Given the description of an element on the screen output the (x, y) to click on. 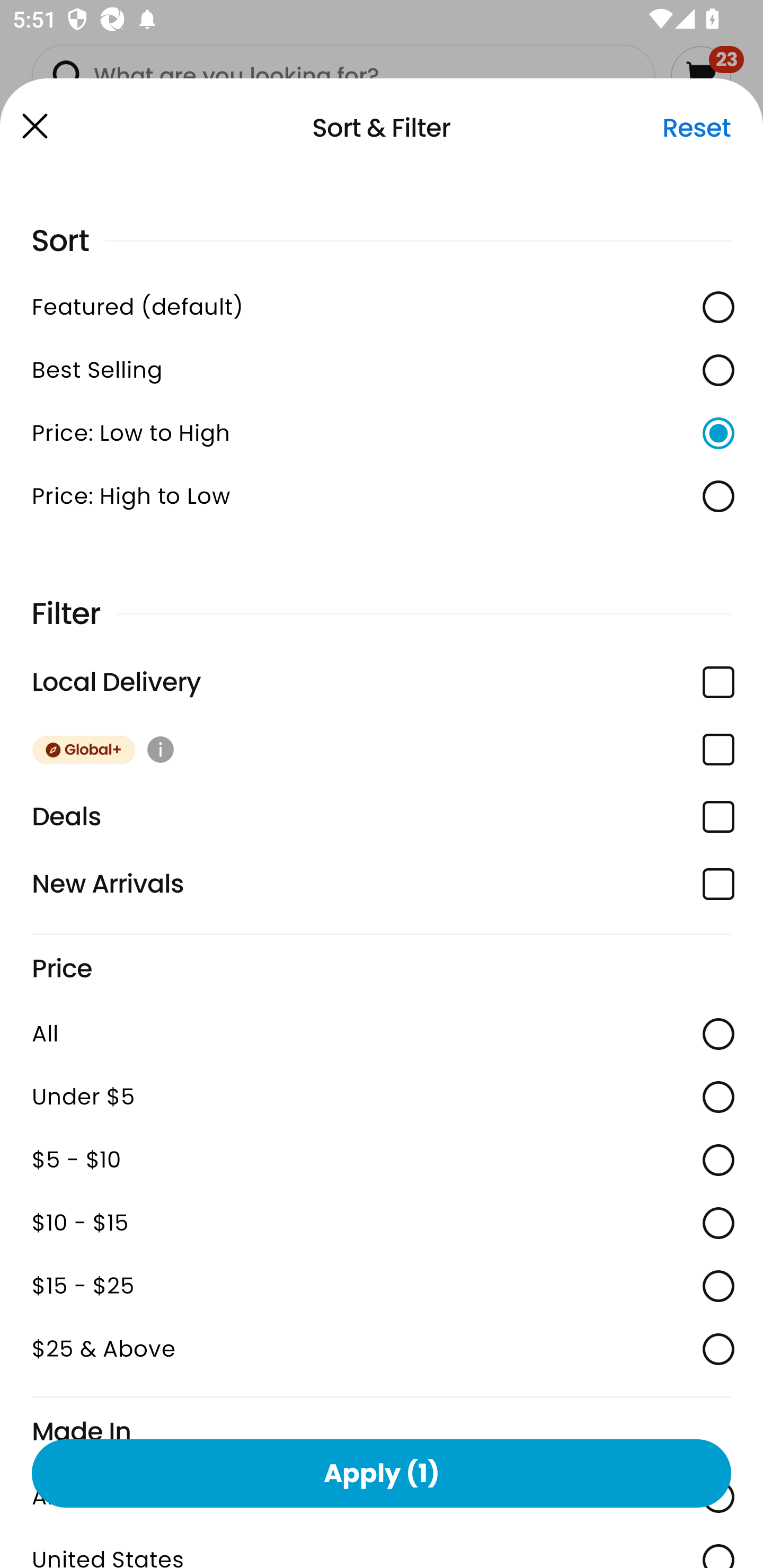
Reset (696, 127)
Apply (1) (381, 1472)
